Given the description of an element on the screen output the (x, y) to click on. 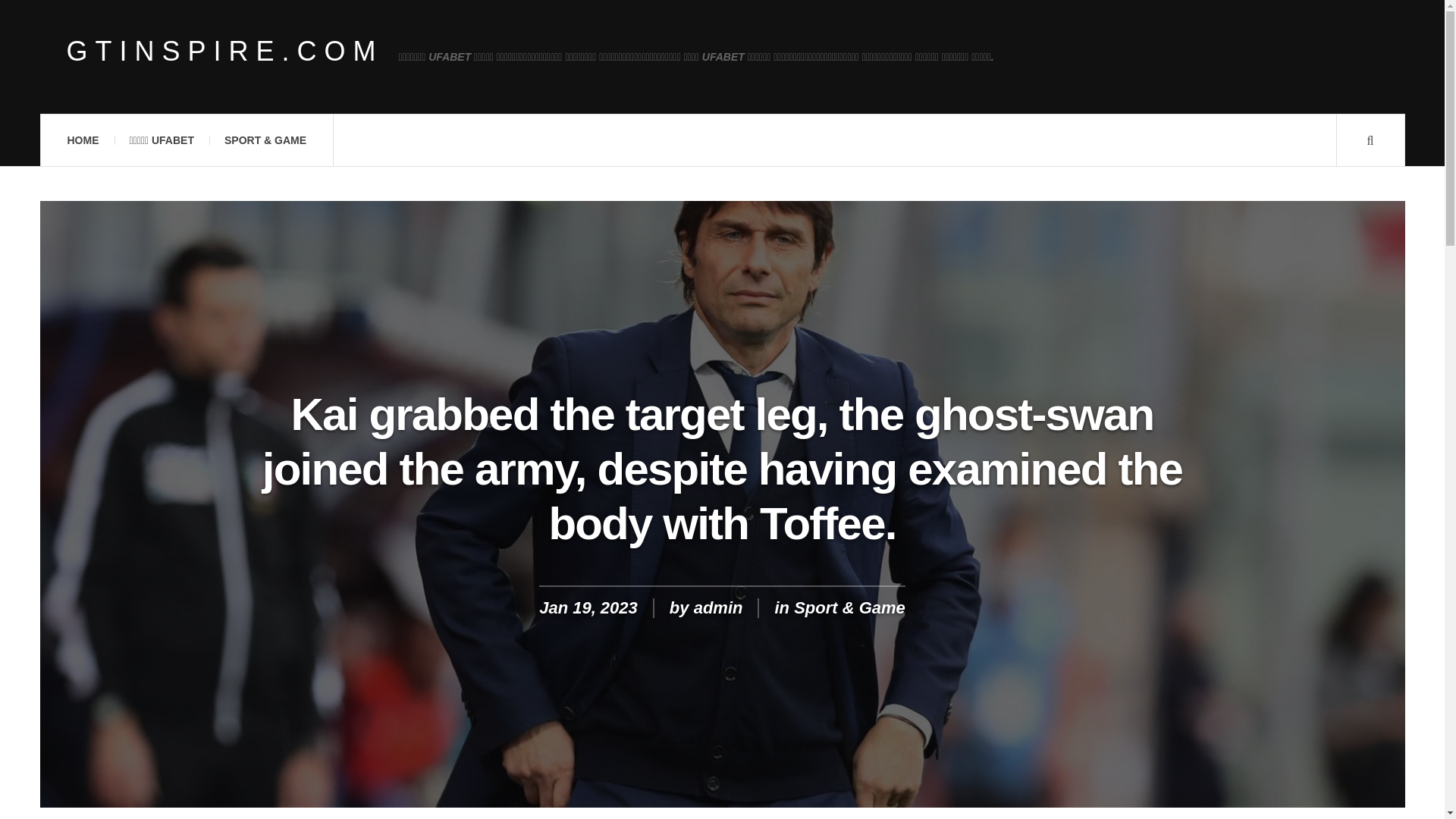
admin (718, 607)
GTINSPIRE.COM (225, 51)
HOME (81, 140)
gtinspire.com (225, 51)
